Given the description of an element on the screen output the (x, y) to click on. 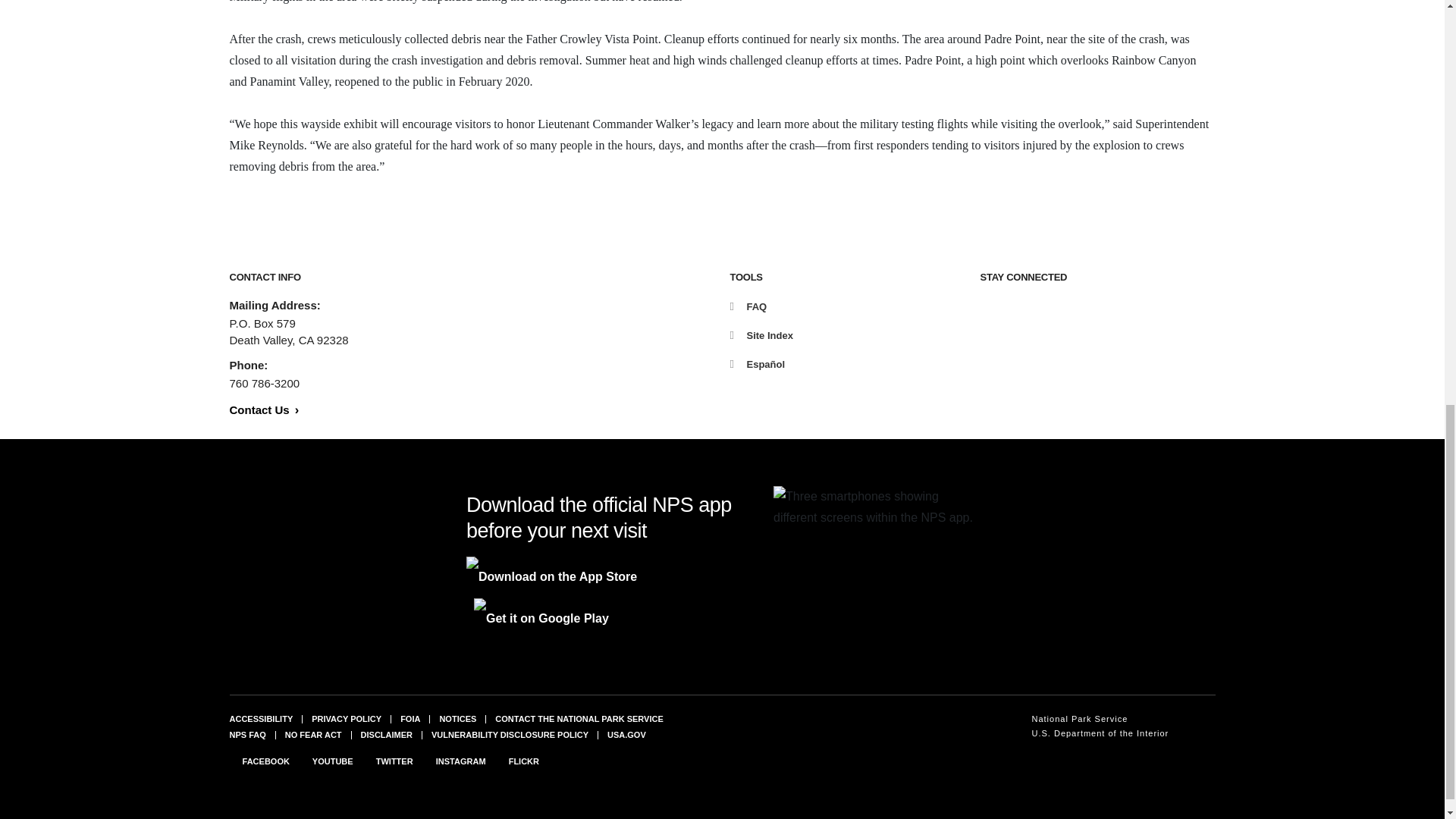
Contact Us (263, 409)
FAQ (748, 306)
National Park Service frequently asked questions (246, 734)
Site Index (760, 335)
